Given the description of an element on the screen output the (x, y) to click on. 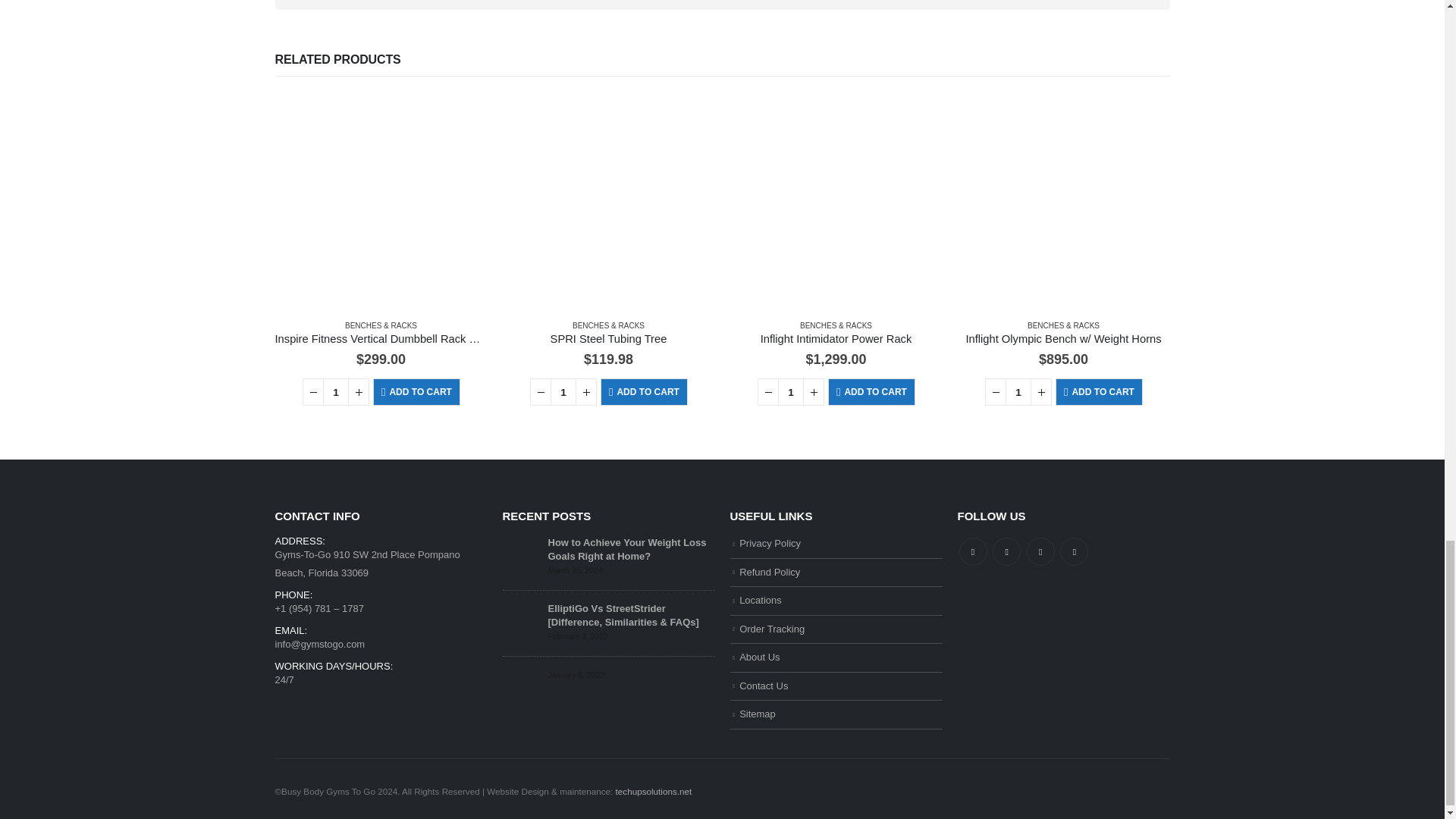
1 (790, 391)
1 (563, 391)
1 (1018, 391)
1 (336, 391)
